Given the description of an element on the screen output the (x, y) to click on. 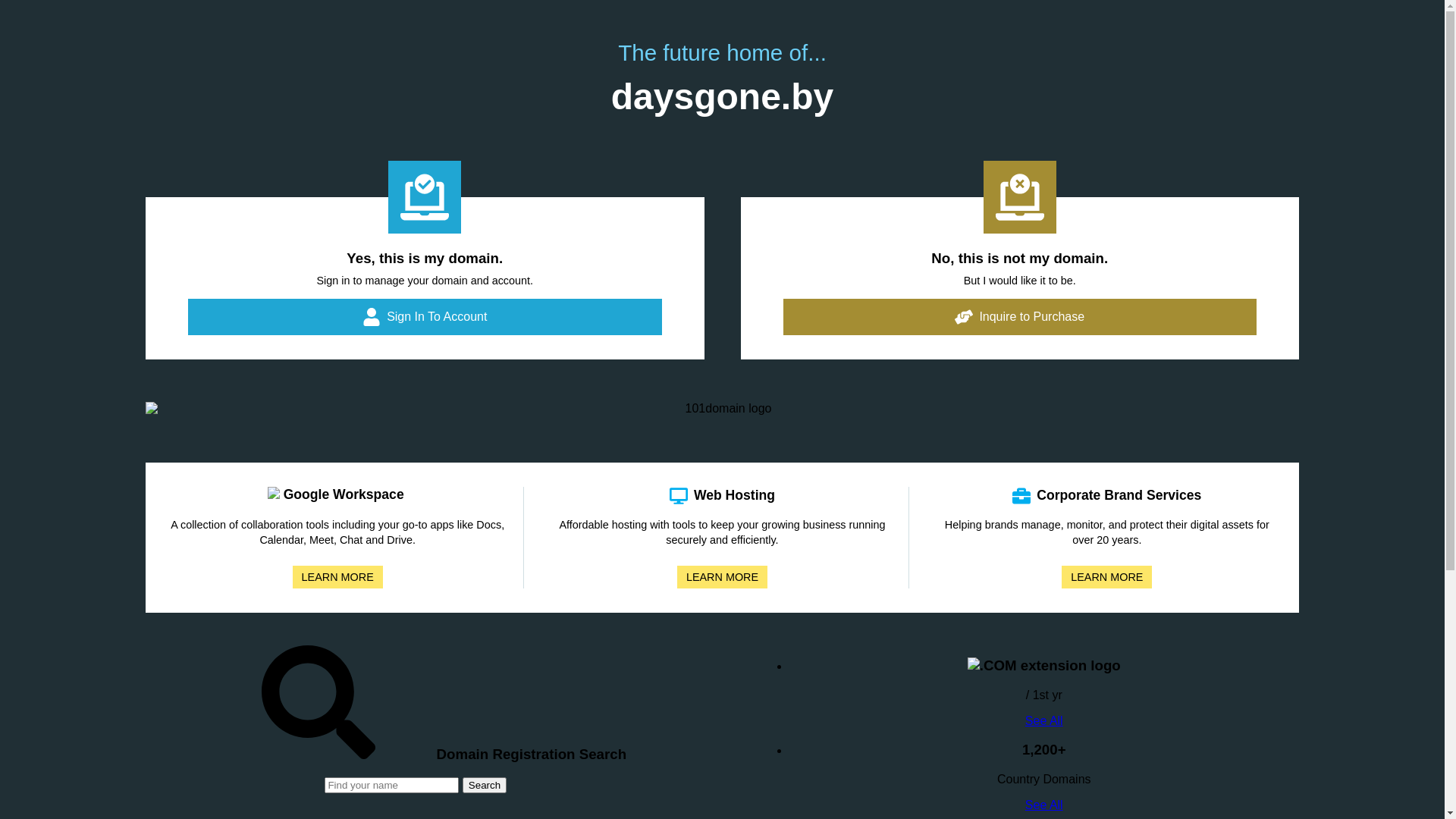
Inquire to Purchase Element type: text (1019, 316)
See All Element type: text (1044, 804)
LEARN MORE Element type: text (1106, 576)
See All Element type: text (1044, 720)
Sign In To Account Element type: text (425, 316)
Search Element type: text (484, 785)
LEARN MORE Element type: text (722, 576)
LEARN MORE Element type: text (337, 576)
